Given the description of an element on the screen output the (x, y) to click on. 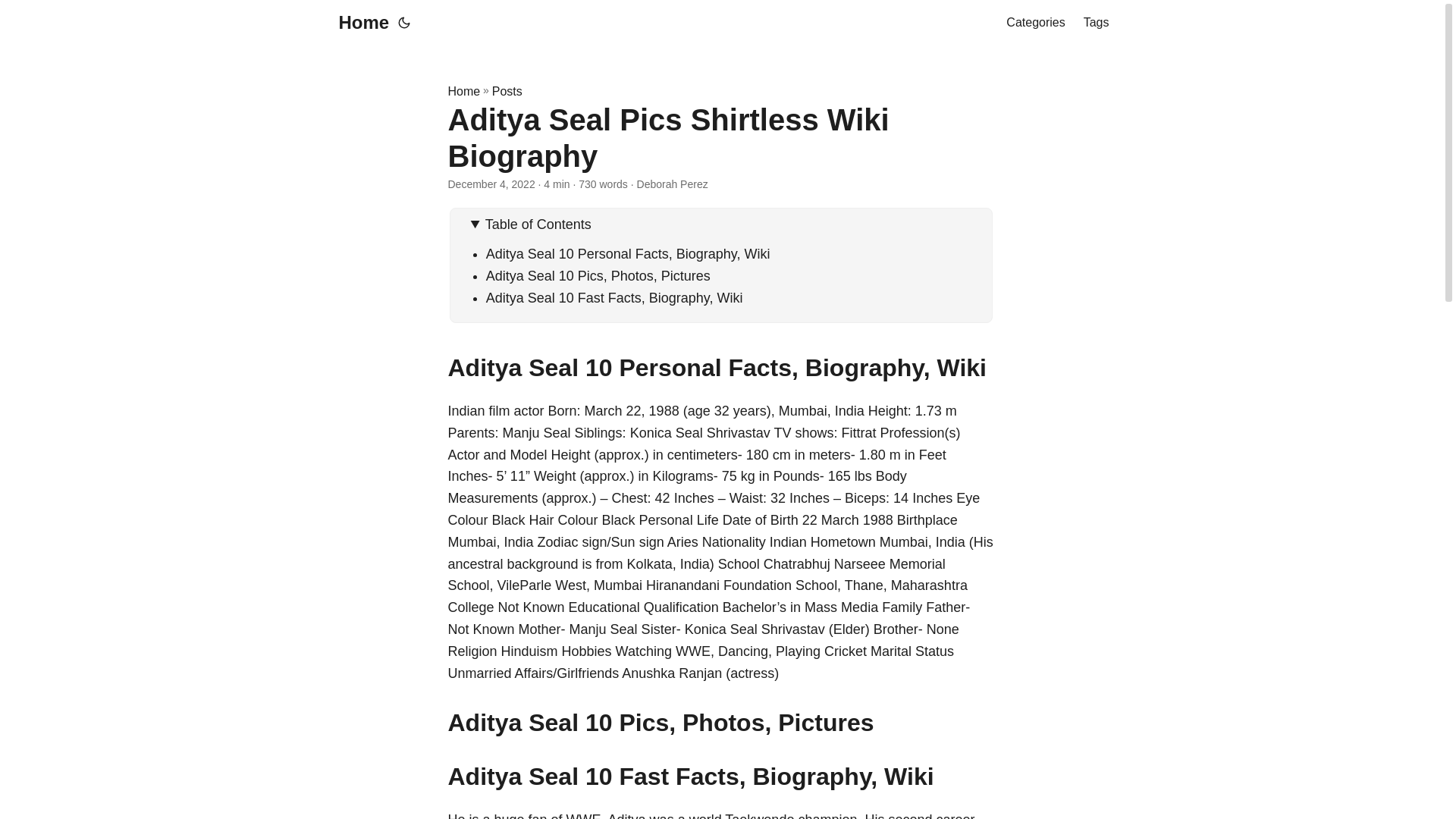
Home (463, 91)
Aditya Seal 10 Fast Facts, Biography, Wiki (614, 297)
Aditya Seal 10 Pics, Photos, Pictures (598, 275)
Aditya Seal 10 Personal Facts, Biography, Wiki (628, 253)
Categories (1035, 22)
Categories (1035, 22)
Home (359, 22)
Posts (507, 91)
